Given the description of an element on the screen output the (x, y) to click on. 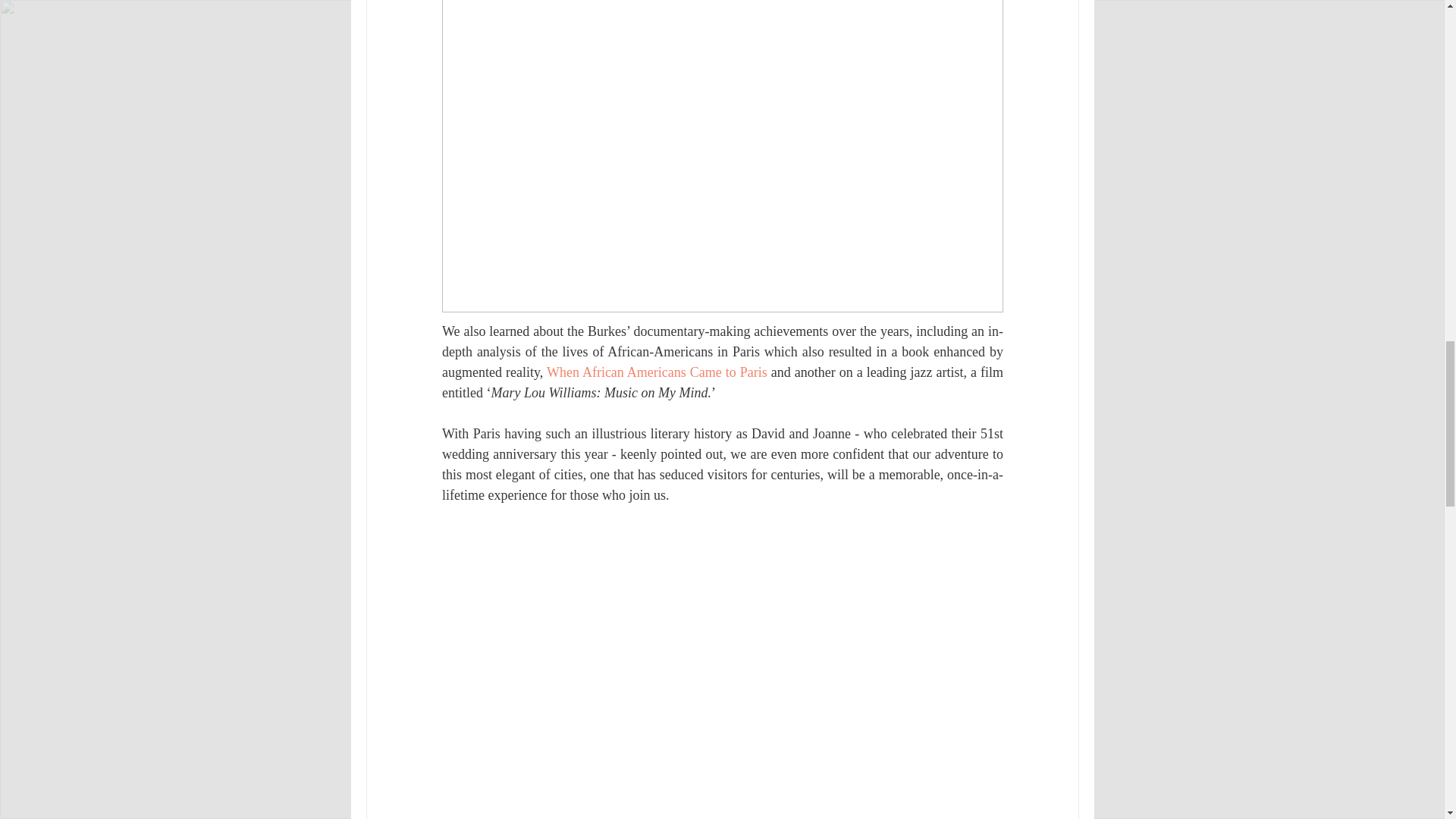
When African Americans Came to Paris (656, 372)
